Given the description of an element on the screen output the (x, y) to click on. 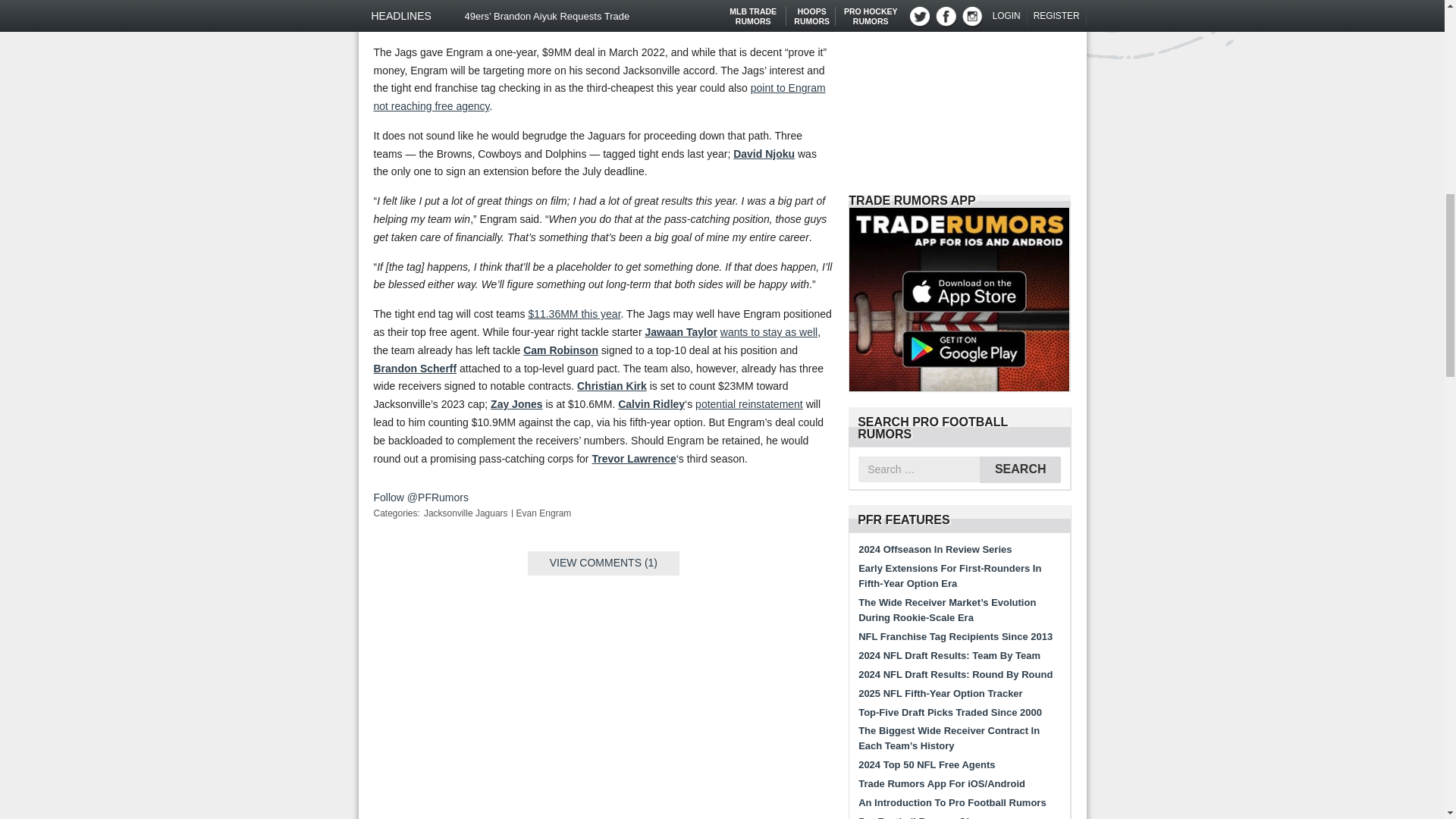
View all posts in Evan Engram (544, 512)
View all posts in Jacksonville Jaguars (465, 512)
Search (1020, 469)
Search for: (919, 469)
